Given the description of an element on the screen output the (x, y) to click on. 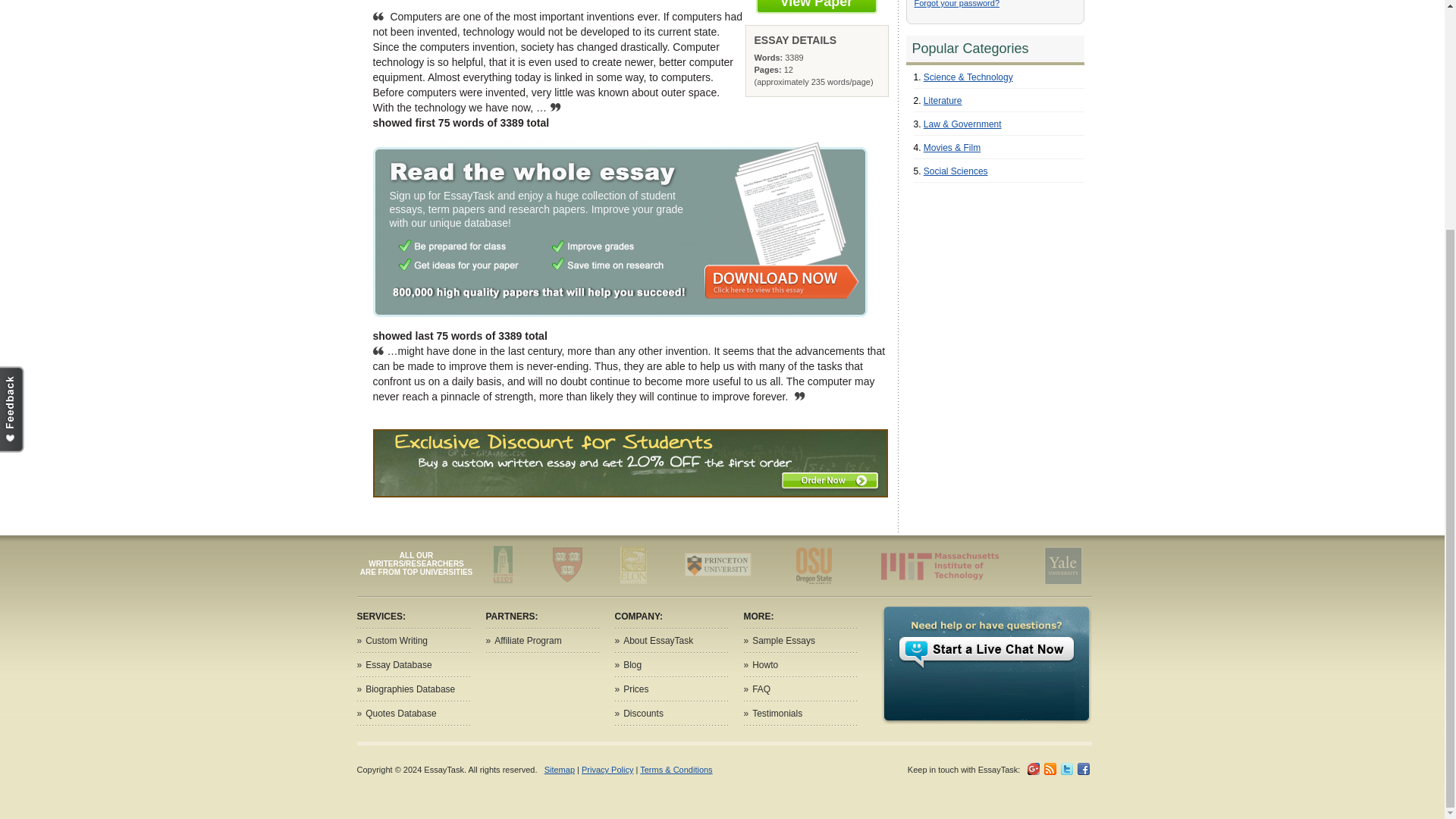
Sample Essays (783, 640)
Forgot your password? (957, 3)
Quotes Database (400, 713)
Essay Database (397, 665)
Literature (942, 100)
Testimonials (777, 713)
Custom Writing (396, 640)
Social Sciences (955, 171)
Blog (632, 665)
Sitemap (559, 768)
